Given the description of an element on the screen output the (x, y) to click on. 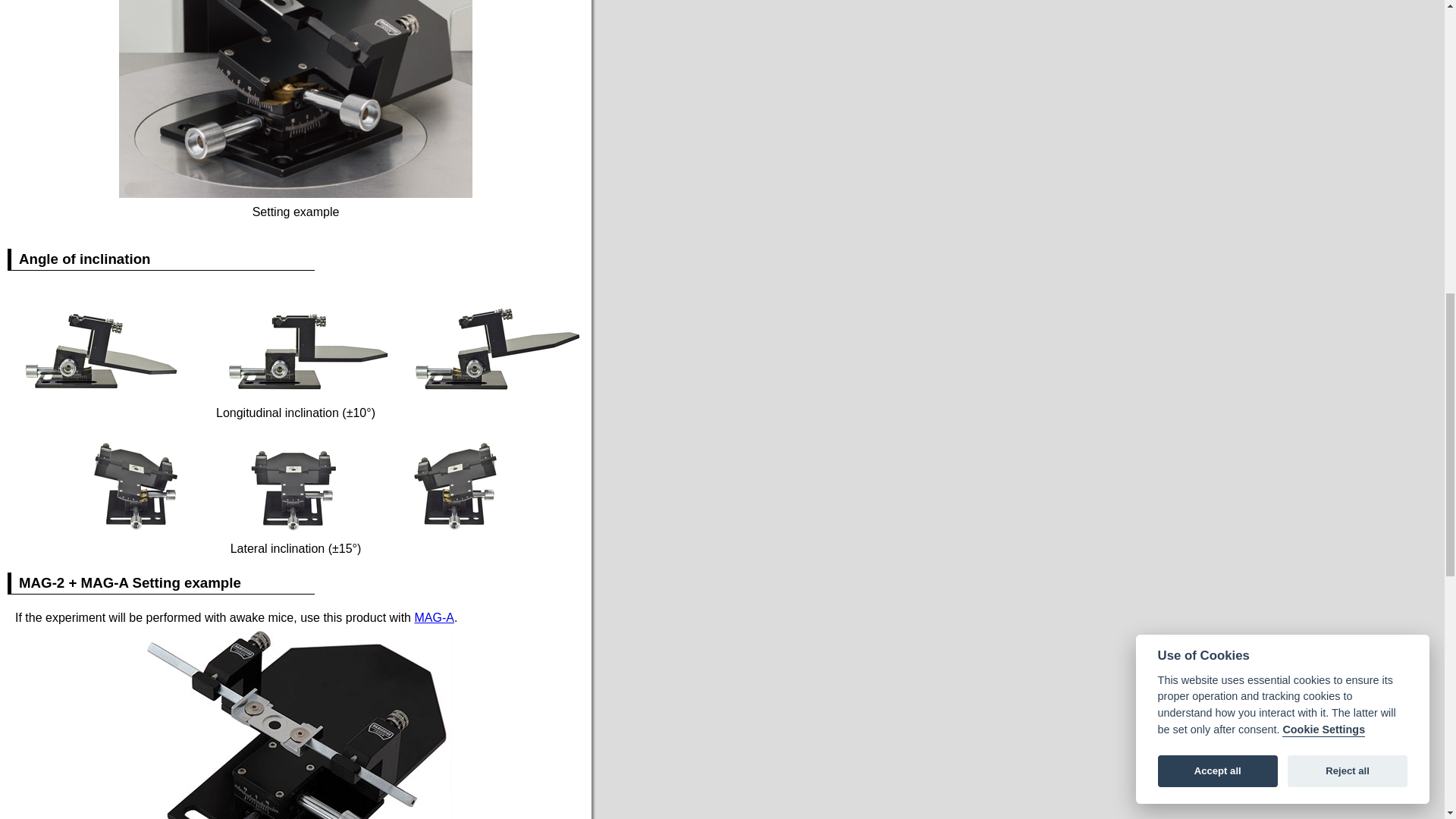
Setting example (295, 99)
MAG-A (432, 617)
MAG-A (432, 617)
Longitudinal inclination (298, 341)
Lateral inclination (298, 484)
